Given the description of an element on the screen output the (x, y) to click on. 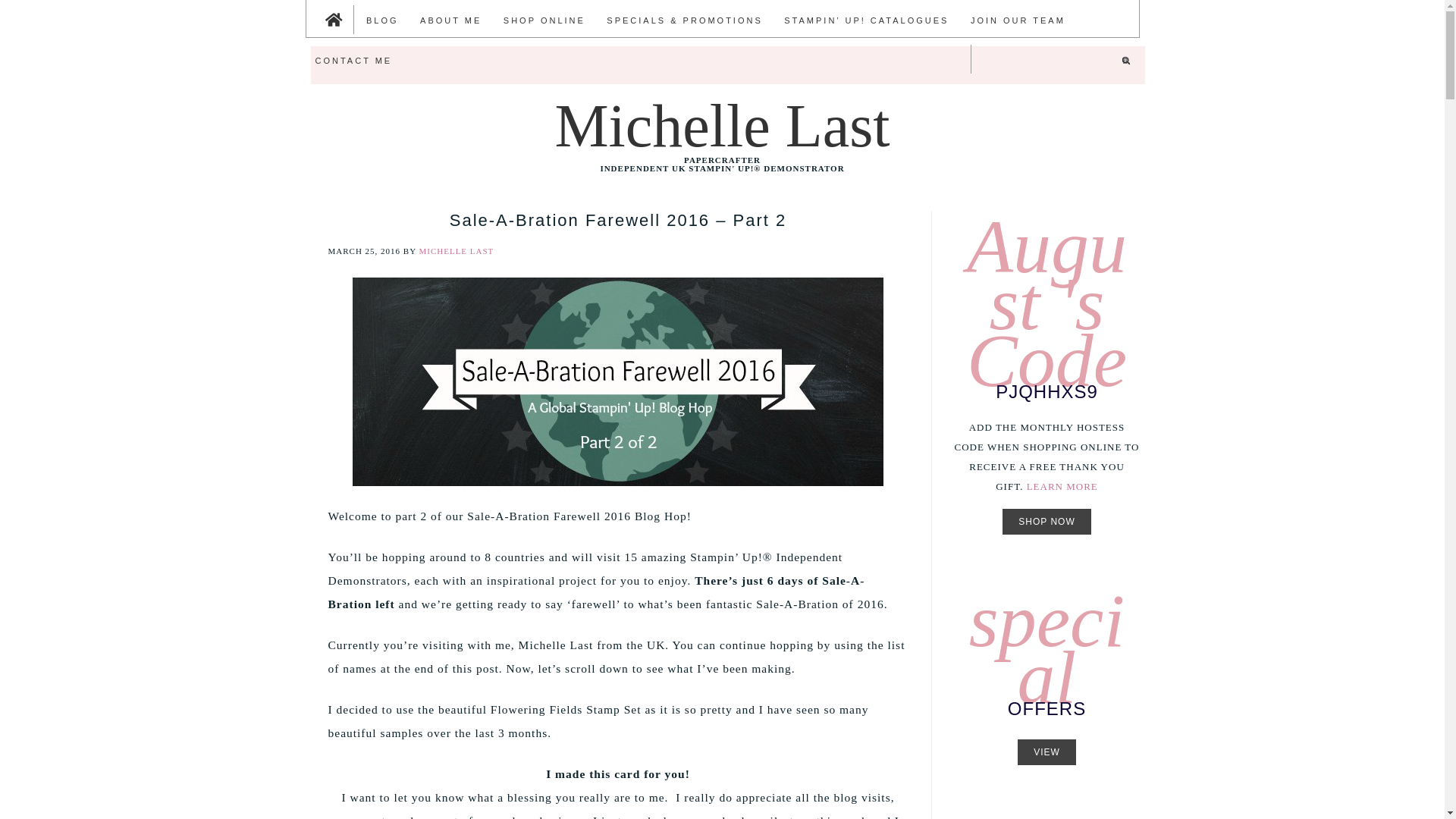
ABOUT ME (450, 20)
JOIN OUR TEAM (1017, 20)
SHOP ONLINE (544, 20)
MICHELLE LAST (456, 250)
Michelle Last (721, 125)
CONTACT ME (353, 60)
BLOG (381, 20)
